Given the description of an element on the screen output the (x, y) to click on. 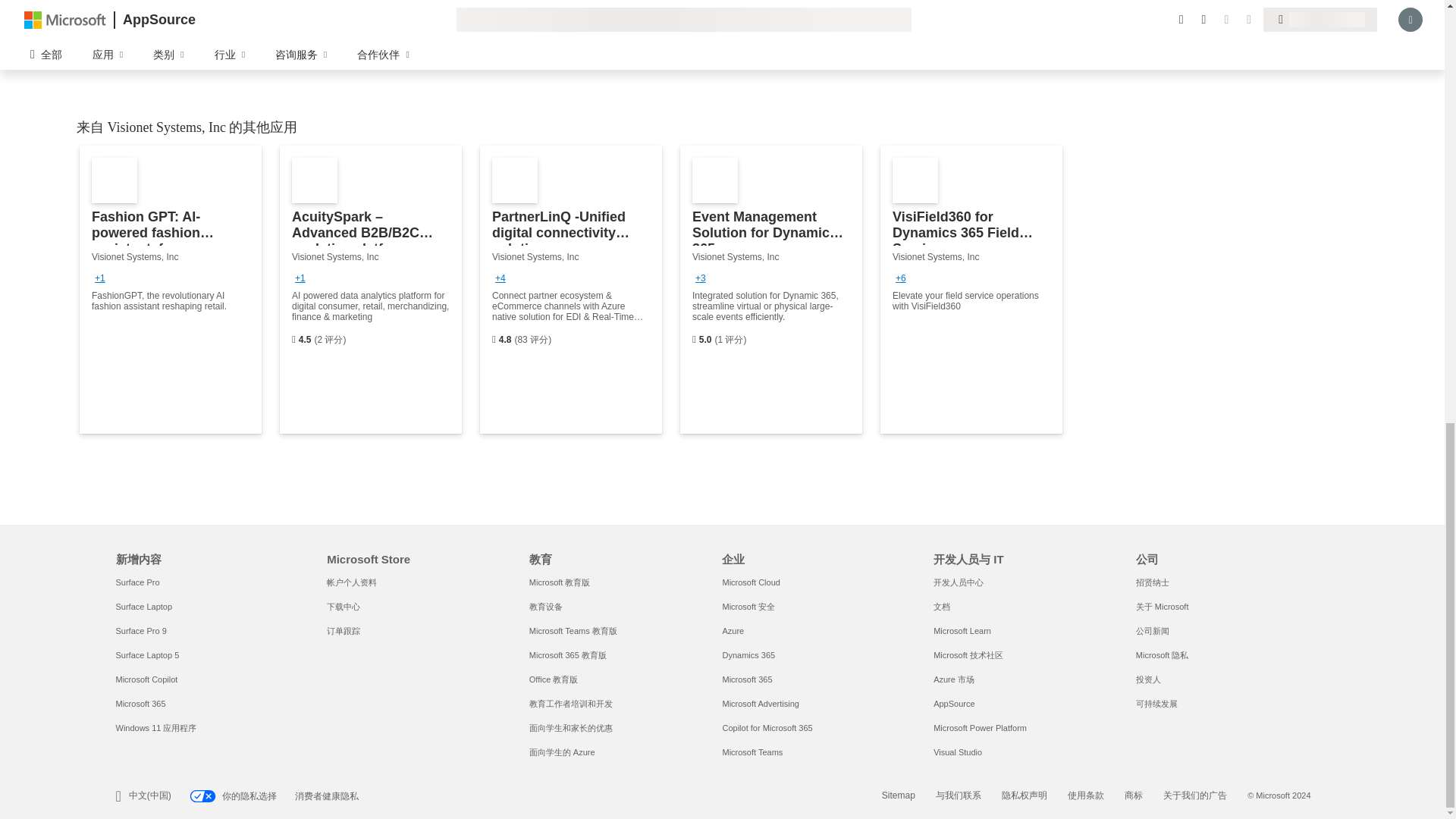
Surface Laptop 5 (147, 655)
Surface Pro (136, 582)
VisiField360 for Dynamics 365 Field Service (971, 289)
Surface Pro 9 (140, 630)
PartnerLinQ -Unified digital connectivity solution (571, 289)
Event Management Solution for Dynamic 365 (770, 289)
Microsoft 365 (140, 703)
Microsoft Copilot (146, 678)
Surface Laptop (143, 605)
